Given the description of an element on the screen output the (x, y) to click on. 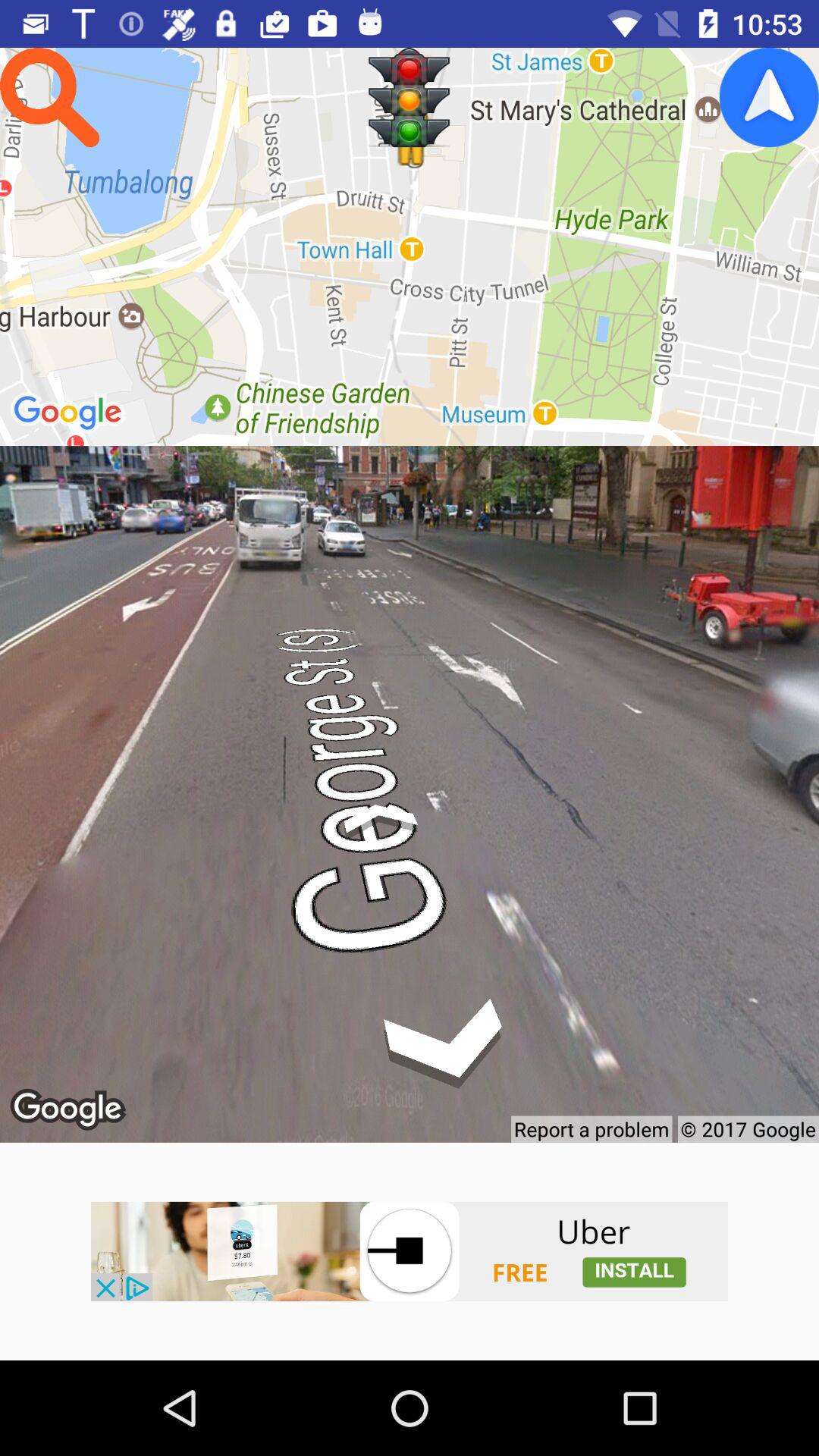
search option (49, 97)
